Given the description of an element on the screen output the (x, y) to click on. 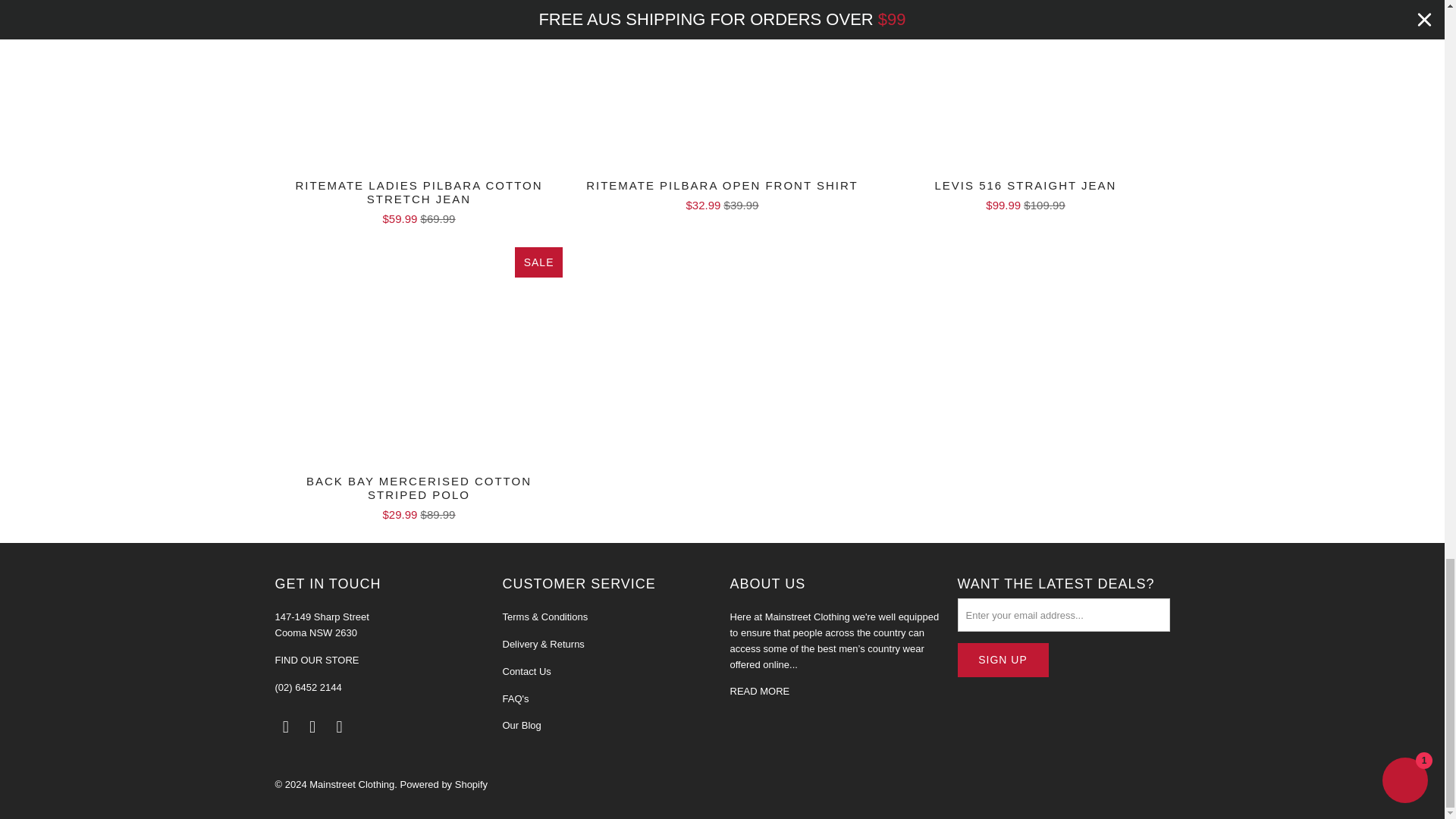
Sign Up (1002, 659)
About  Us (759, 690)
Mainstreet Clothing on Facebook (312, 727)
Contact Us (316, 659)
Mainstreet Clothing on Instagram (339, 727)
Email Mainstreet Clothing (286, 727)
tel:026452 2144 (307, 686)
